Given the description of an element on the screen output the (x, y) to click on. 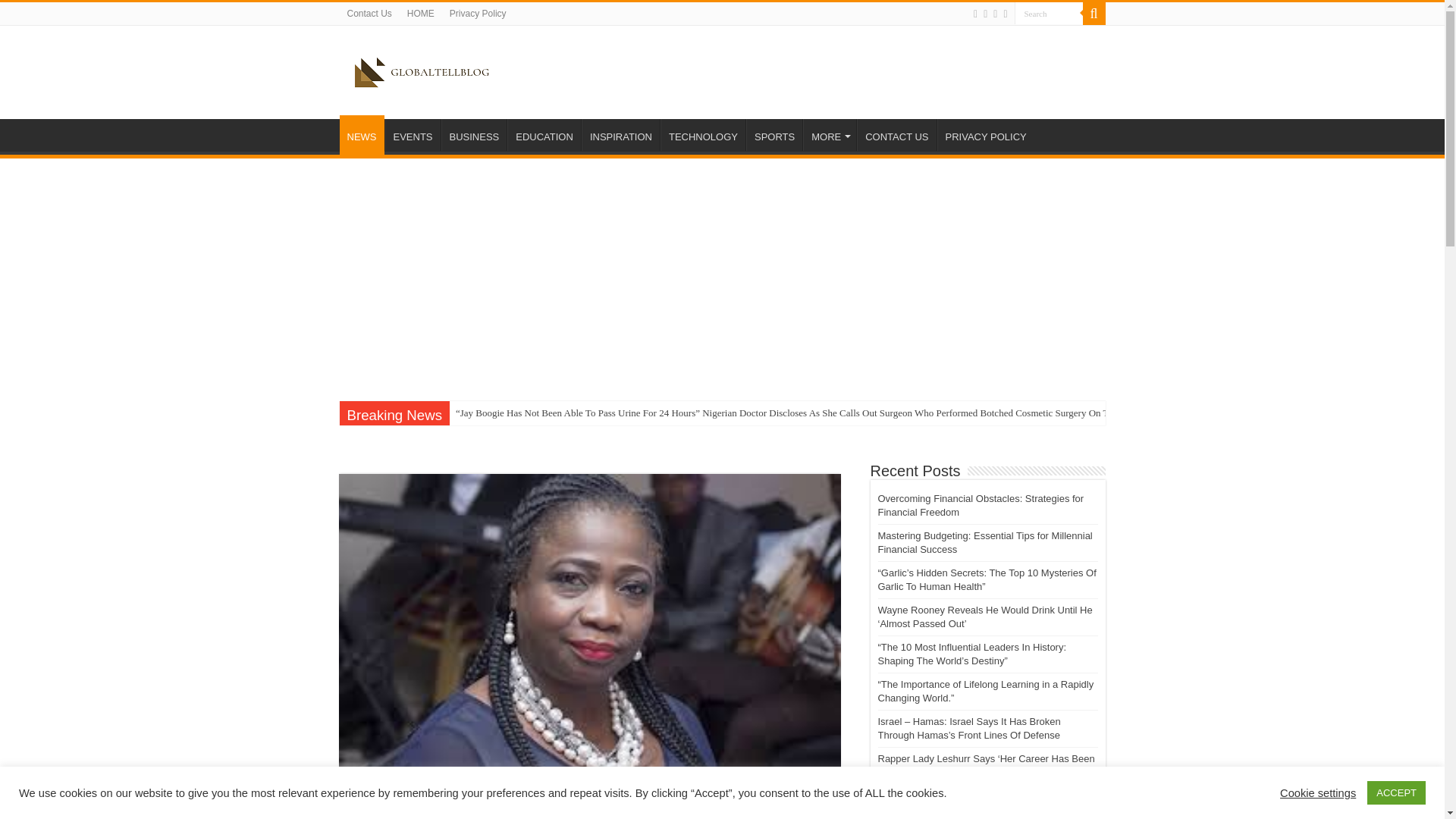
EDUCATION (543, 134)
BUSINESS (473, 134)
Search (1094, 13)
Search (1048, 13)
Pinterest (984, 13)
Privacy Policy (477, 13)
NEWS (361, 134)
MORE (829, 134)
Globaltellblog (422, 70)
Contact Us (368, 13)
EVENTS (413, 134)
Twitter (975, 13)
Youtube (994, 13)
instagram (1005, 13)
